Given the description of an element on the screen output the (x, y) to click on. 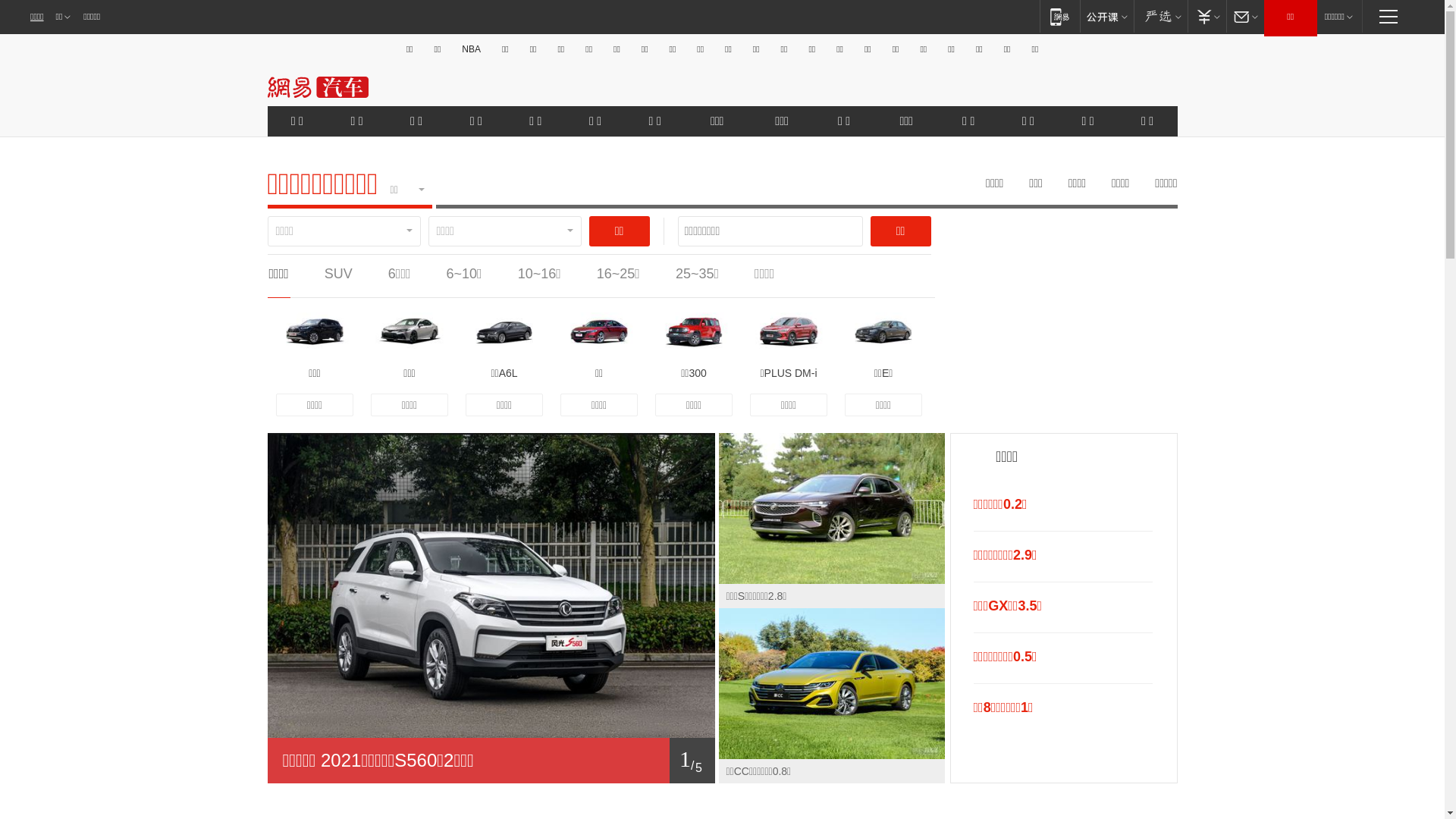
SUV Element type: text (338, 273)
1/ 5 Element type: text (490, 760)
NBA Element type: text (471, 48)
